Given the description of an element on the screen output the (x, y) to click on. 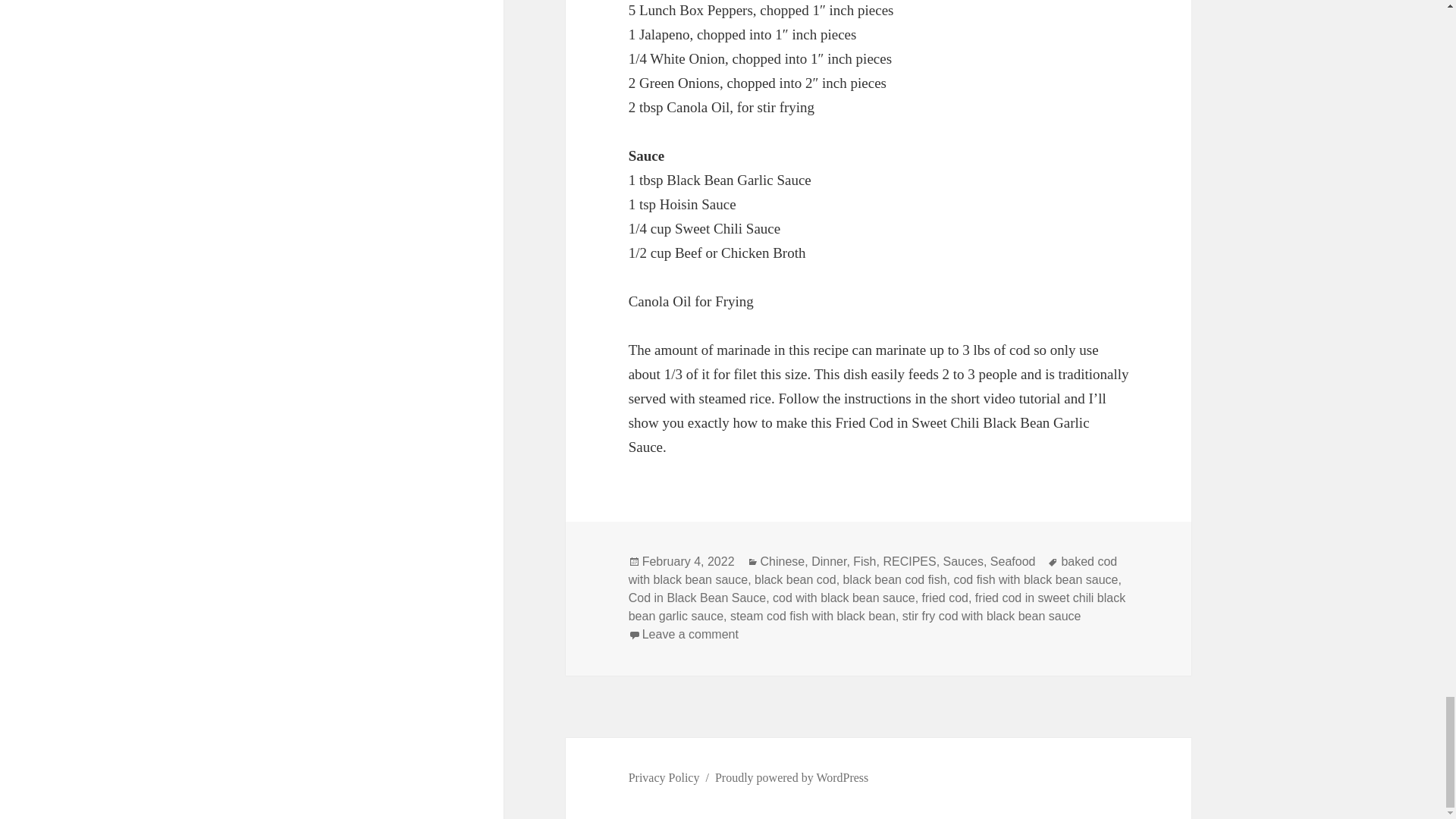
RECIPES (909, 561)
Seafood (1012, 561)
February 4, 2022 (688, 561)
Dinner (827, 561)
Fish (864, 561)
black bean cod fish (895, 580)
baked cod with black bean sauce (873, 571)
Chinese (782, 561)
Sauces (963, 561)
black bean cod (794, 580)
cod fish with black bean sauce (1035, 580)
